Given the description of an element on the screen output the (x, y) to click on. 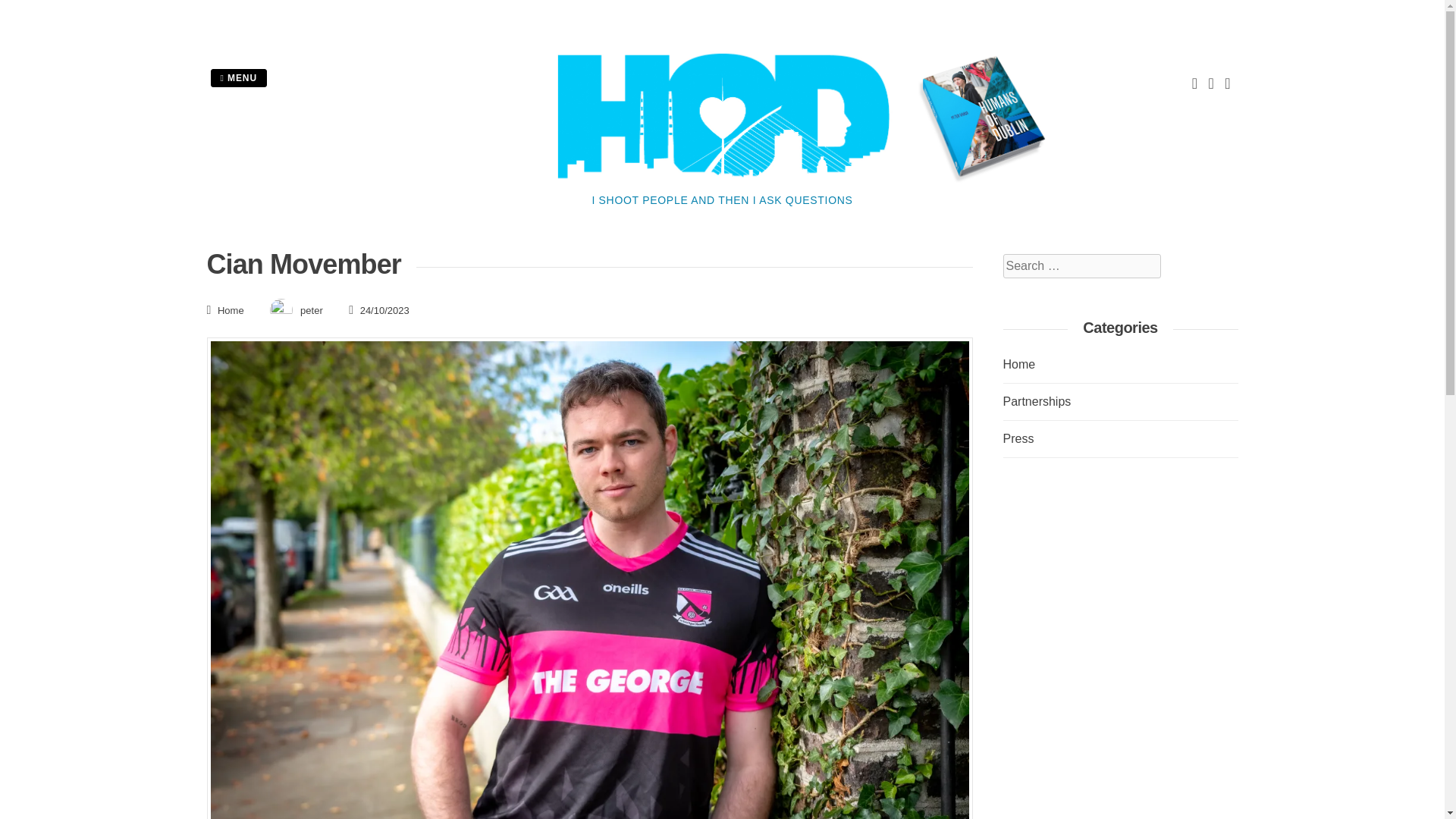
Humans of Dublin (721, 182)
Home (230, 310)
Search (31, 9)
Press (1018, 438)
Home (1019, 364)
MENU (238, 77)
Partnerships (1036, 400)
